Given the description of an element on the screen output the (x, y) to click on. 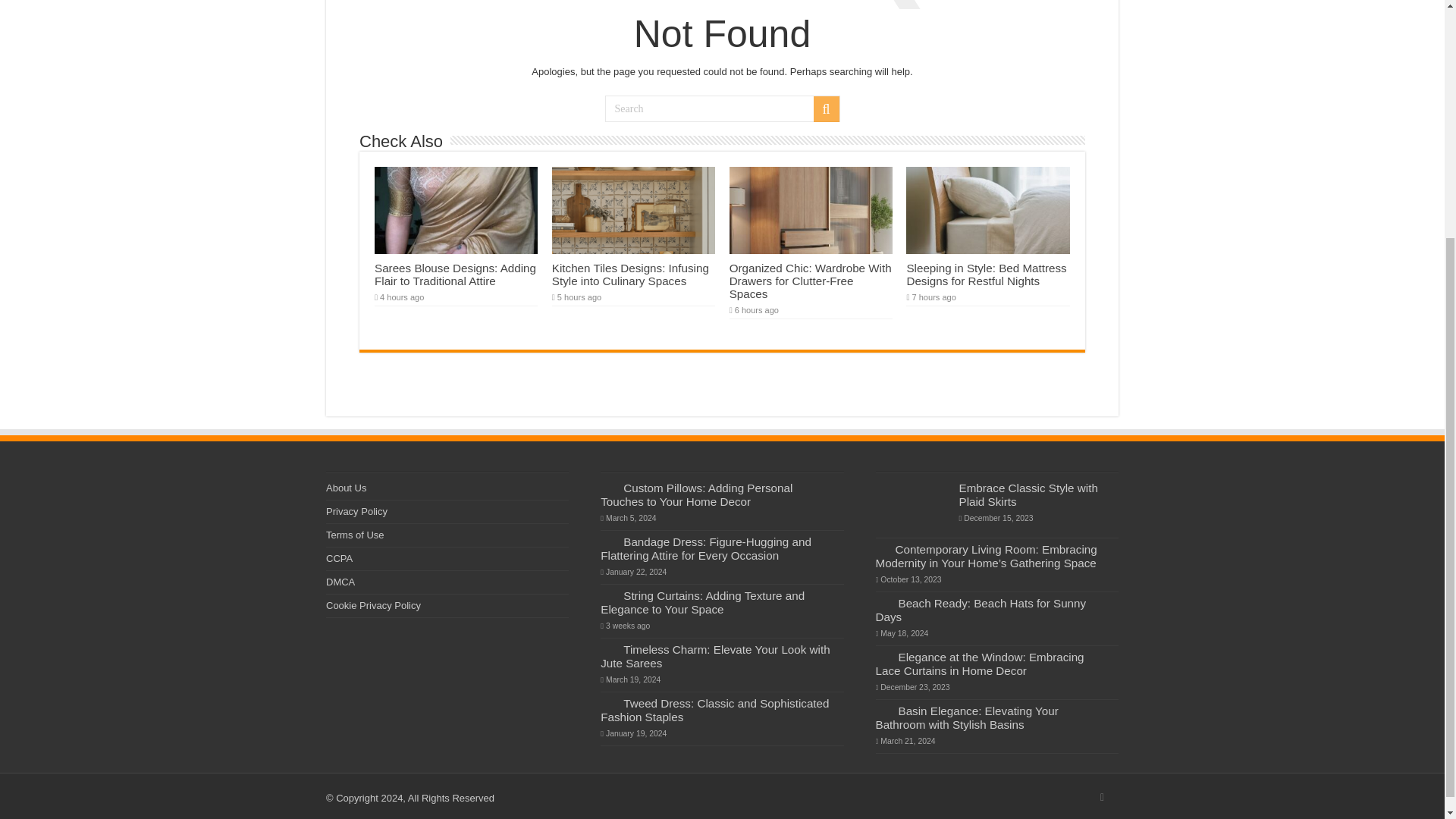
Search (722, 108)
String Curtains: Adding Texture and Elegance to Your Space (702, 601)
Custom Pillows: Adding Personal Touches to Your Home Decor (695, 494)
Sleeping in Style: Bed Mattress Designs for Restful Nights (985, 274)
Privacy Policy (356, 511)
Kitchen Tiles Designs: Infusing Style into Culinary Spaces (630, 274)
Timeless Charm: Elevate Your Look with Jute Sarees (714, 655)
About Us (346, 487)
Cookie Privacy Policy (373, 604)
CCPA (339, 558)
DMCA (340, 582)
Sarees Blouse Designs: Adding Flair to Traditional Attire (454, 274)
Search (825, 109)
